Given the description of an element on the screen output the (x, y) to click on. 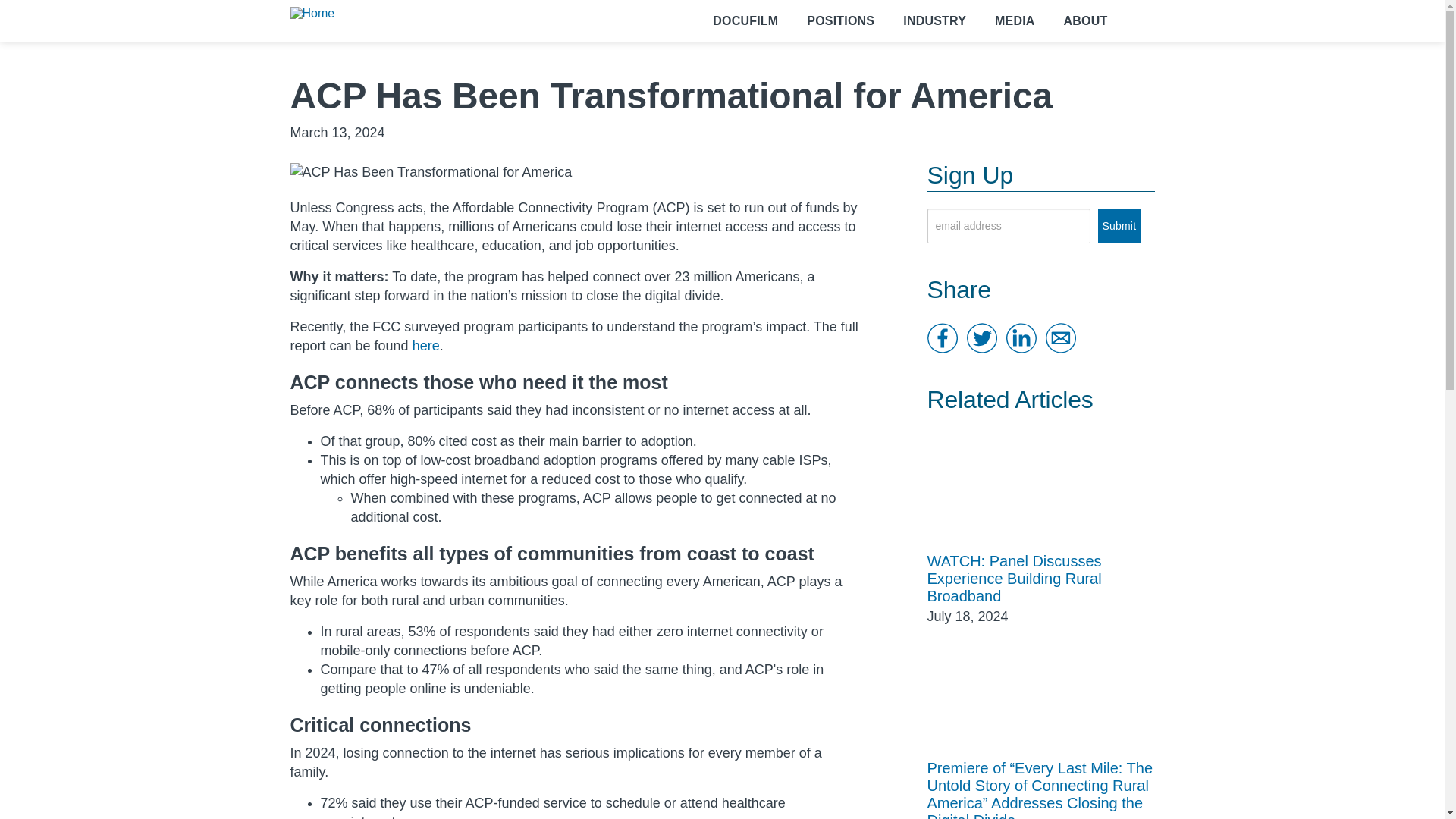
MEDIA (1014, 21)
SEARCH (1139, 20)
POSITIONS (840, 21)
ABOUT (1085, 21)
DOCUFILM (745, 21)
INDUSTRY (934, 21)
here (425, 345)
Home (311, 13)
Submit (1119, 225)
